Given the description of an element on the screen output the (x, y) to click on. 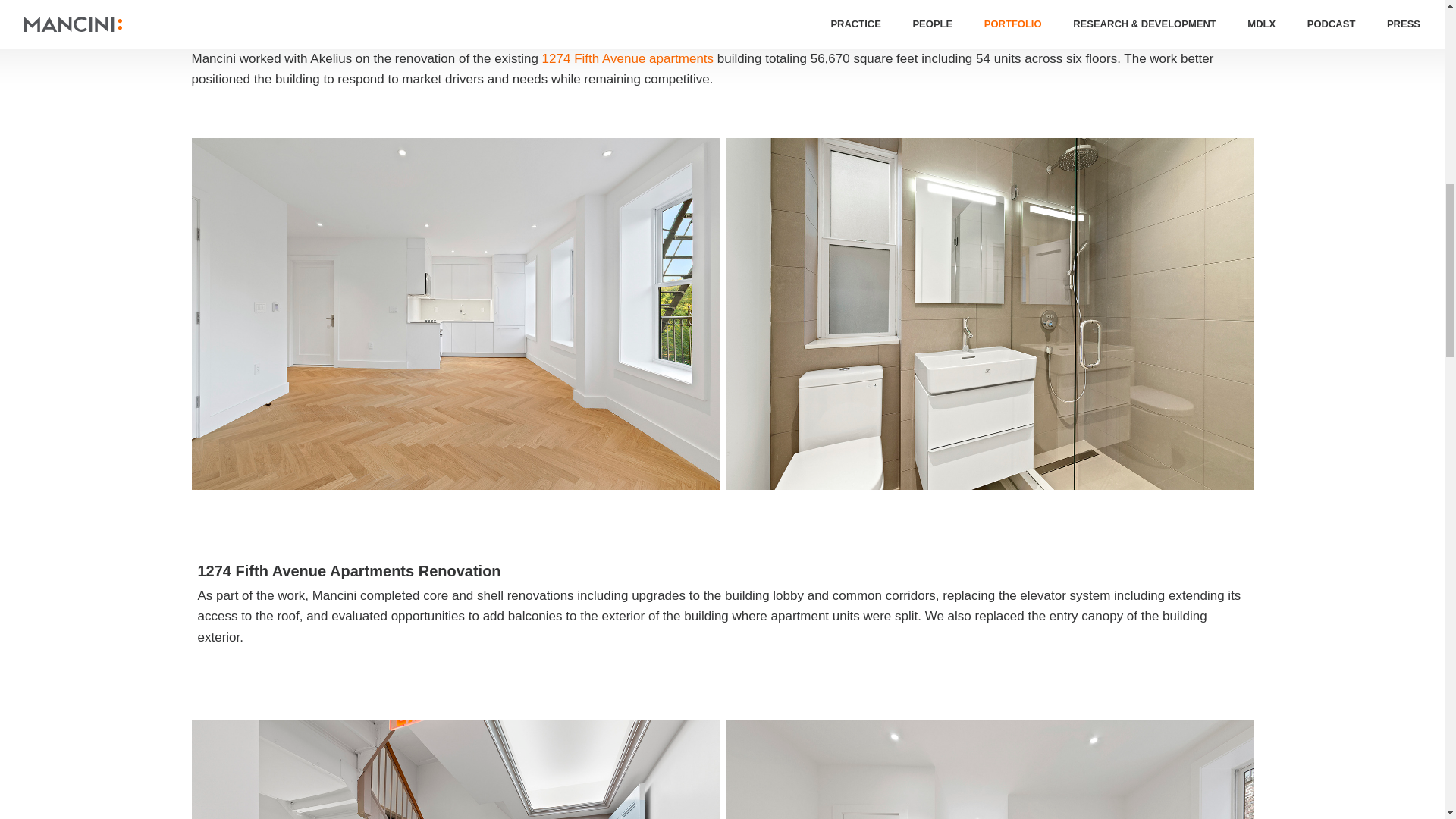
1274 Fifth Avenue apartments (627, 58)
